Given the description of an element on the screen output the (x, y) to click on. 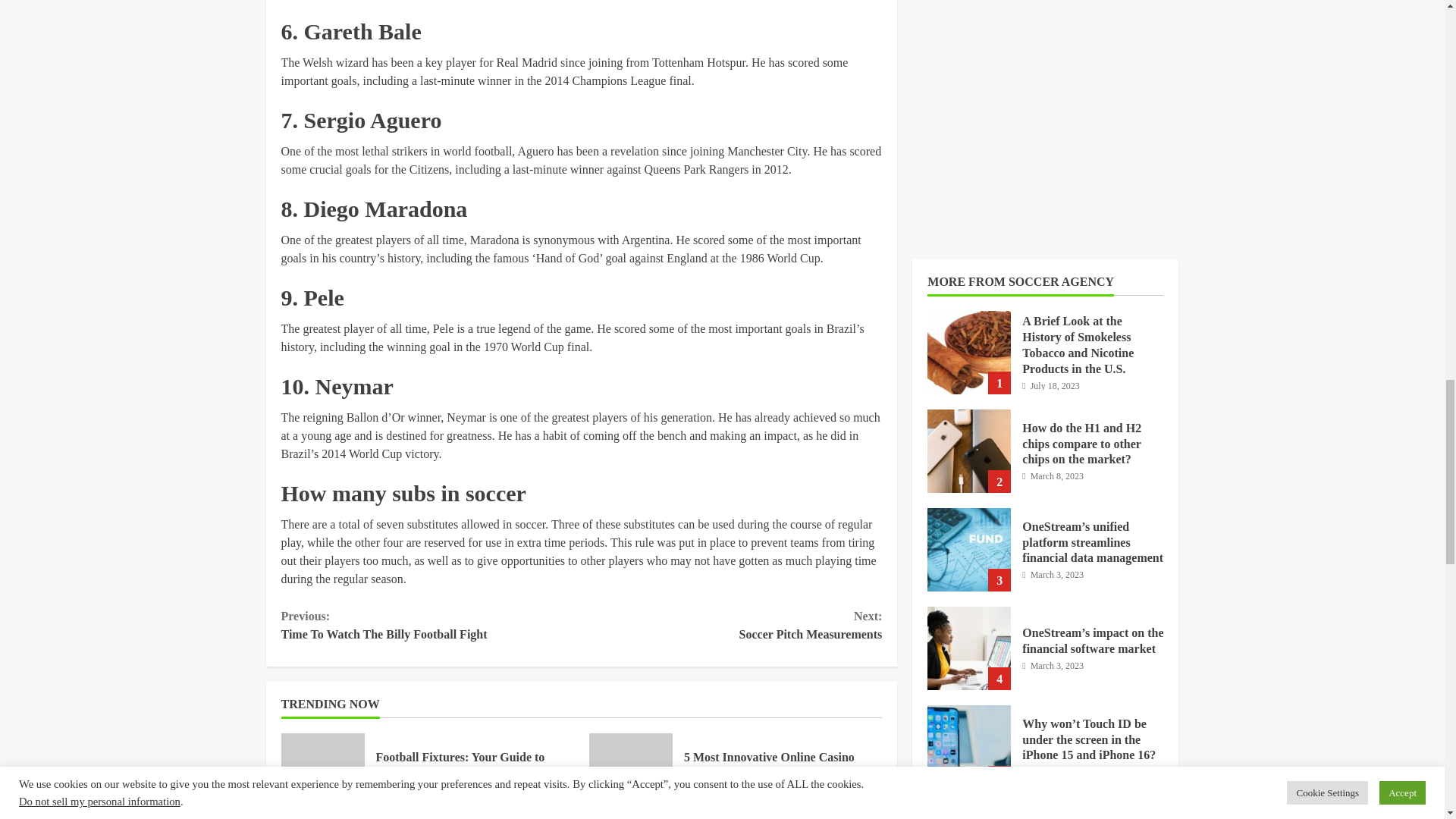
5 Most Innovative Online Casino Games of 2024 (630, 774)
Football Fixtures: Your Guide to Unmissable Matches (731, 625)
5 Most Innovative Online Casino Games of 2024 (459, 765)
Football Fixtures: Your Guide to Unmissable Matches (430, 625)
